Given the description of an element on the screen output the (x, y) to click on. 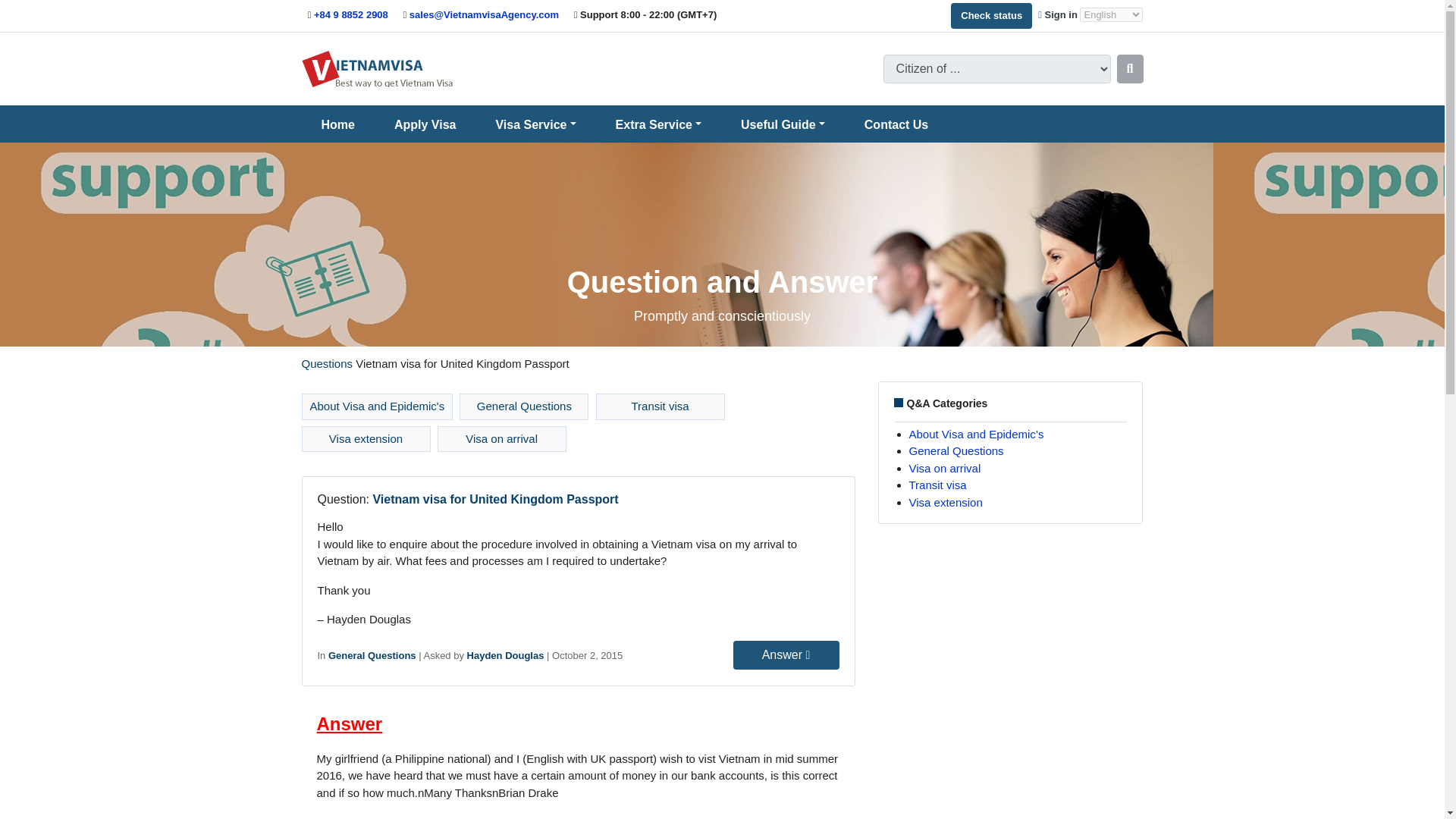
Apply Visa (425, 123)
Extra Service (658, 123)
Visa Service (534, 123)
Check status (991, 15)
Vietnam visa, Apply Vietnam visa on arrival online (376, 67)
Apply Visa (425, 123)
Sign in (1059, 14)
Home (338, 123)
Visa Service (534, 123)
Sign in (1059, 14)
